Given the description of an element on the screen output the (x, y) to click on. 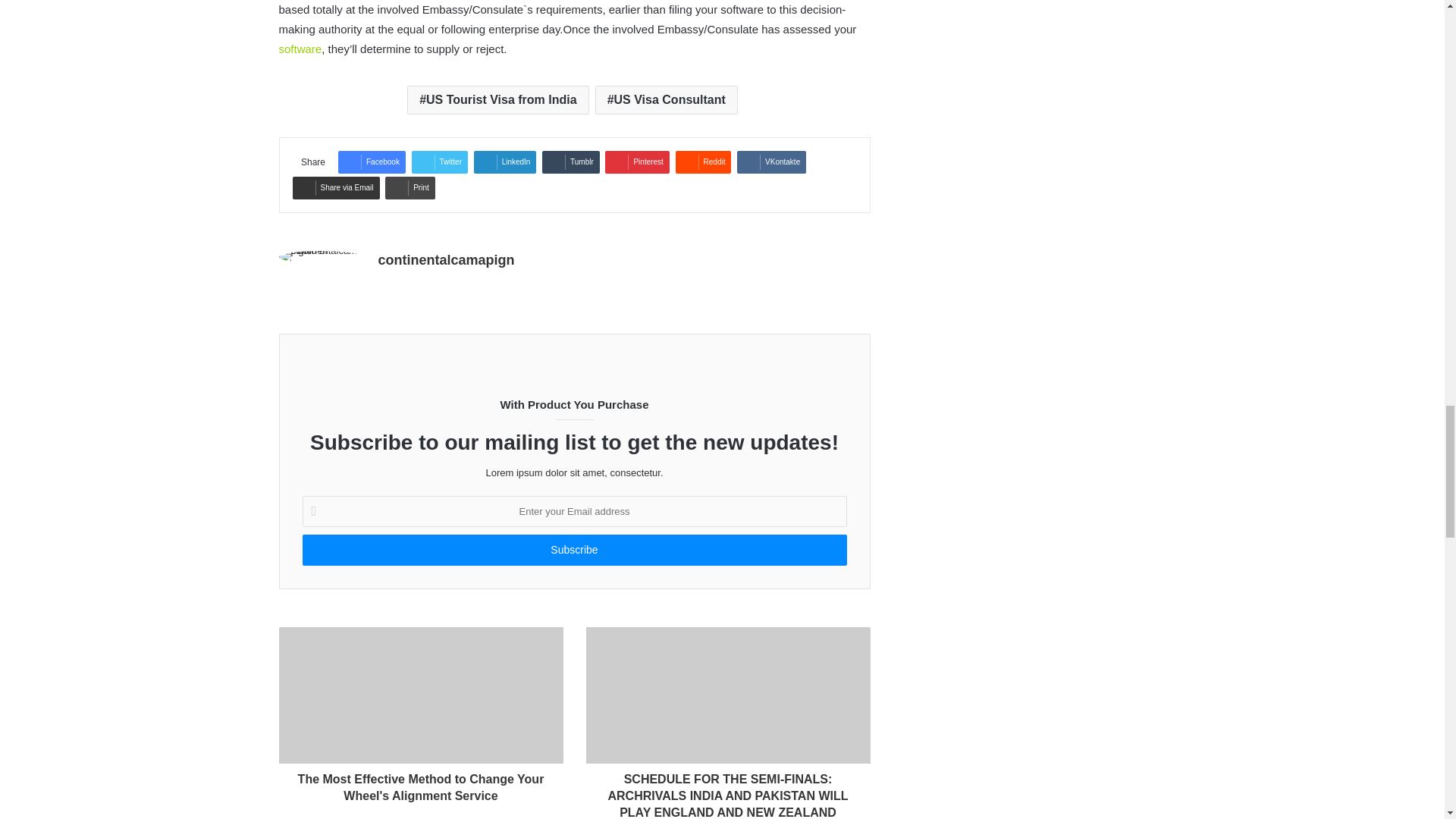
US Visa Consultant (666, 99)
software (300, 48)
Subscribe (573, 549)
US Tourist Visa from India (497, 99)
